Given the description of an element on the screen output the (x, y) to click on. 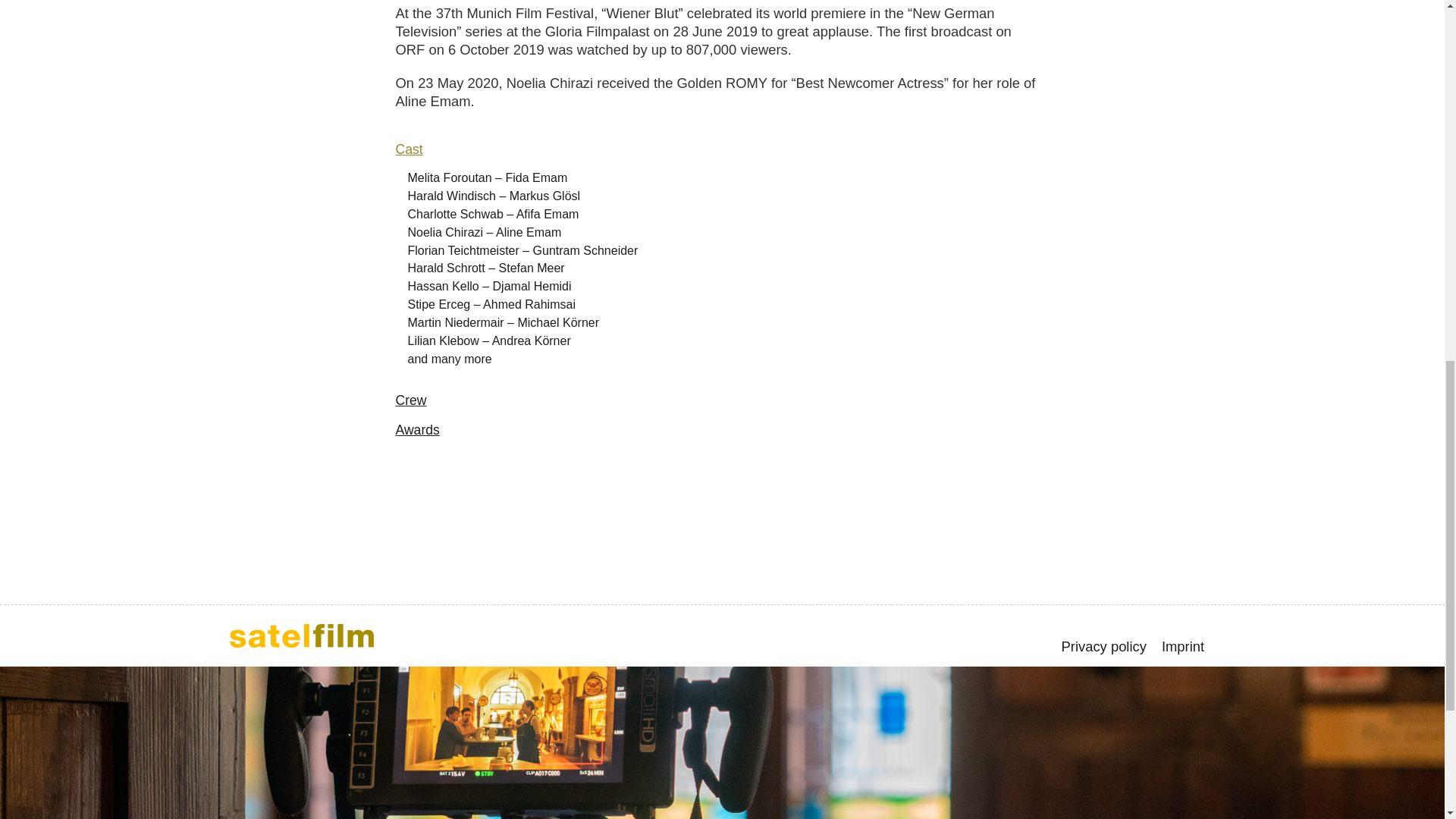
Awards (416, 429)
Crew (410, 400)
Cast (408, 149)
Imprint (1182, 646)
Privacy policy (1104, 646)
